Given the description of an element on the screen output the (x, y) to click on. 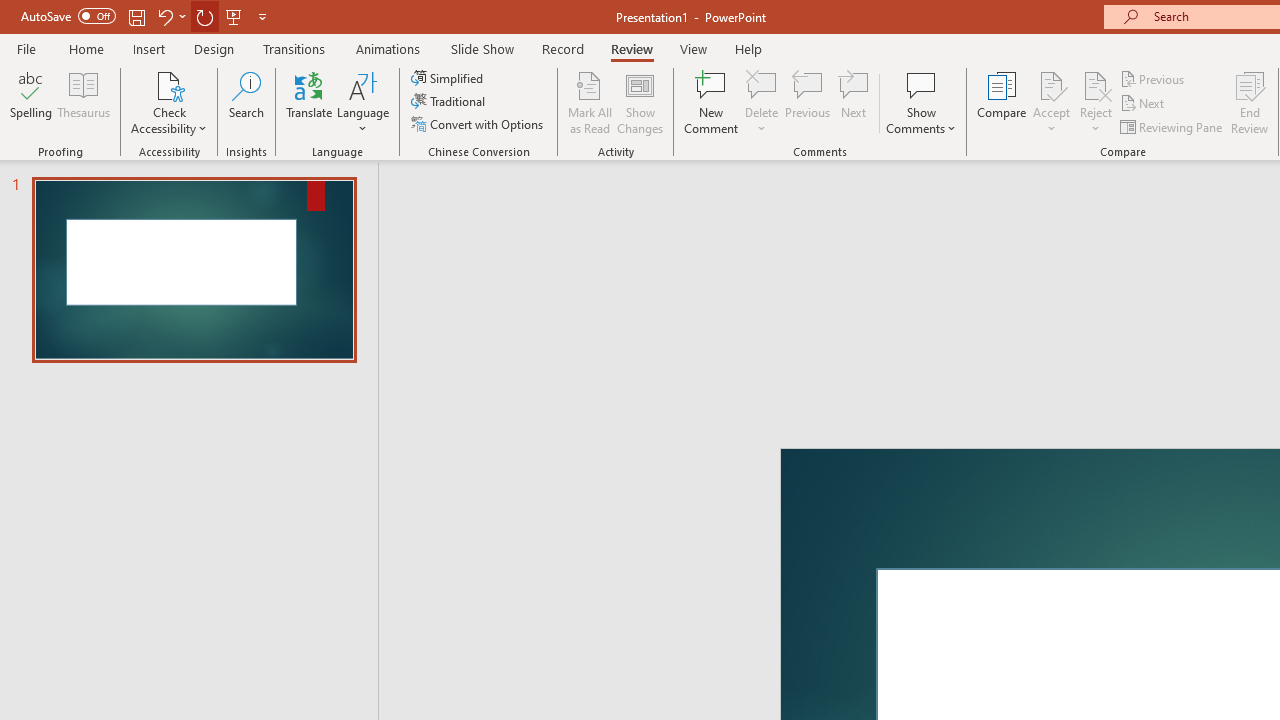
New Comment (711, 102)
Accept Change (1051, 84)
Convert with Options... (479, 124)
Accept (1051, 102)
Mark All as Read (589, 102)
